Given the description of an element on the screen output the (x, y) to click on. 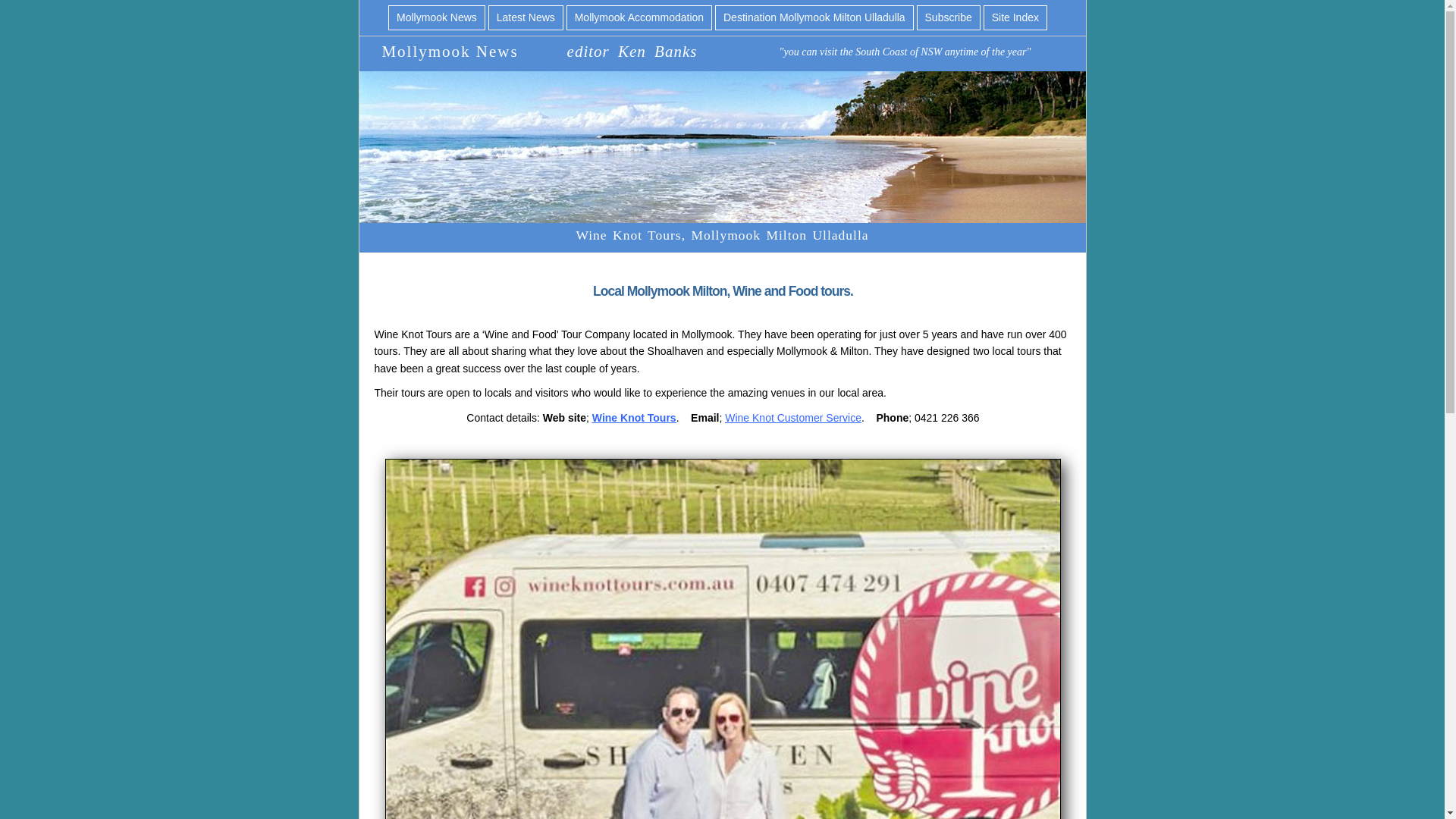
Wine Knot Tours (634, 417)
Wine Knot Customer Service (793, 417)
Site Index (1015, 17)
Mollymook News (436, 17)
Subscribe (948, 17)
Destination Mollymook Milton Ulladulla (814, 17)
Mollymook Accommodation (638, 17)
Latest News (525, 17)
